Given the description of an element on the screen output the (x, y) to click on. 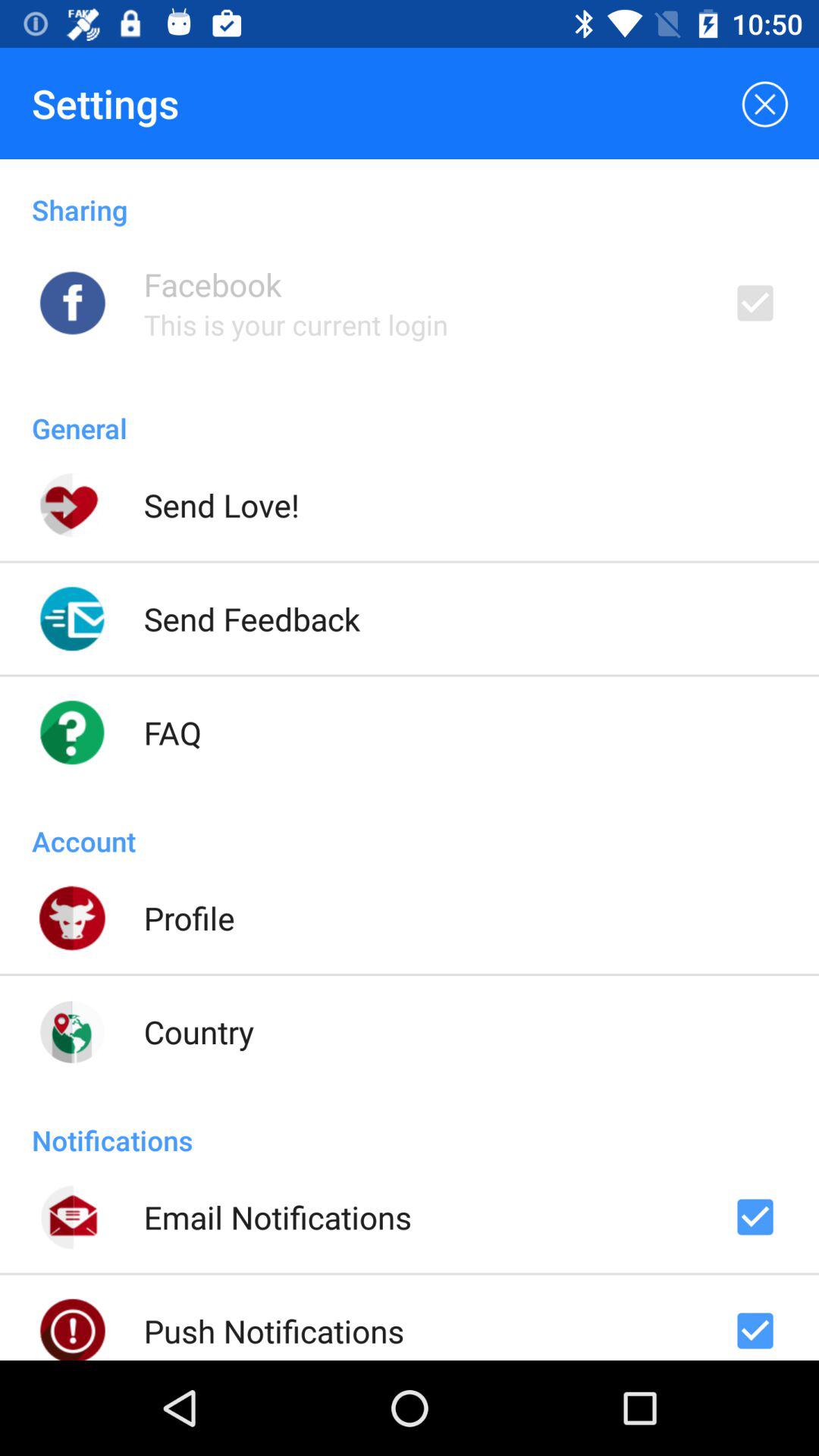
select this is your (295, 324)
